Given the description of an element on the screen output the (x, y) to click on. 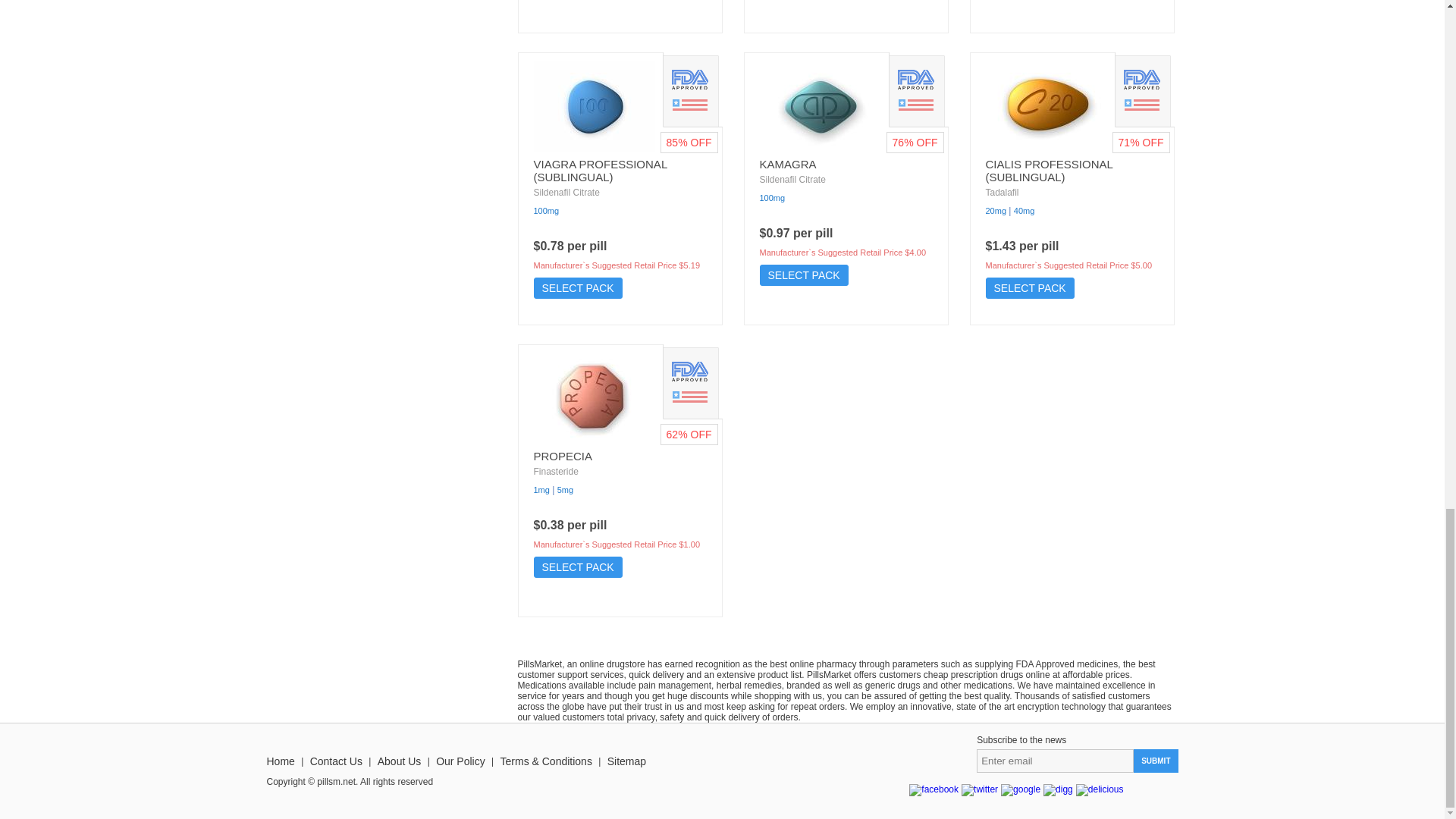
SUBMIT (1155, 761)
